Given the description of an element on the screen output the (x, y) to click on. 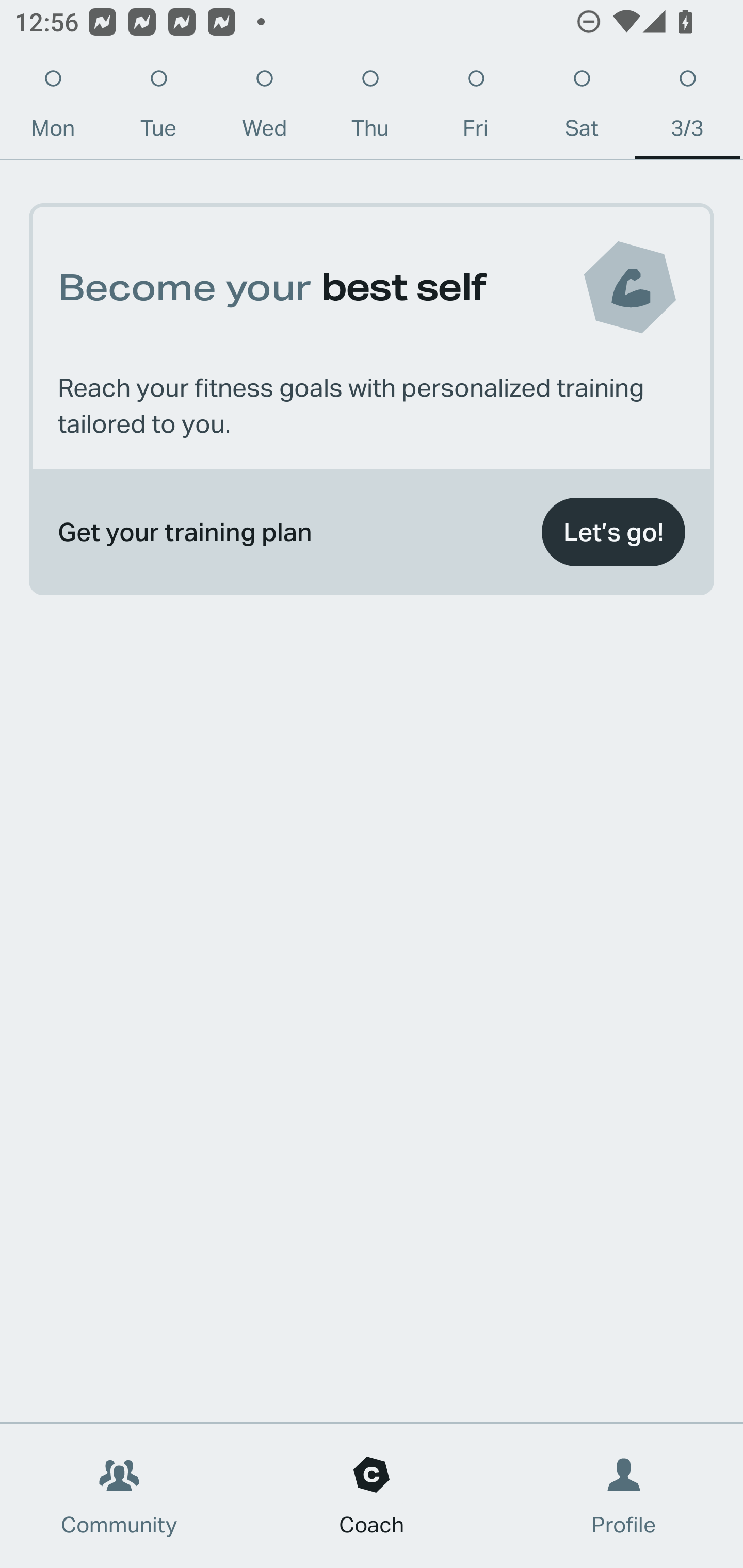
Mon (52, 108)
Tue (158, 108)
Wed (264, 108)
Thu (369, 108)
Fri (475, 108)
Sat (581, 108)
3/3 (687, 108)
Let’s go! (613, 532)
Community (119, 1495)
Profile (624, 1495)
